Given the description of an element on the screen output the (x, y) to click on. 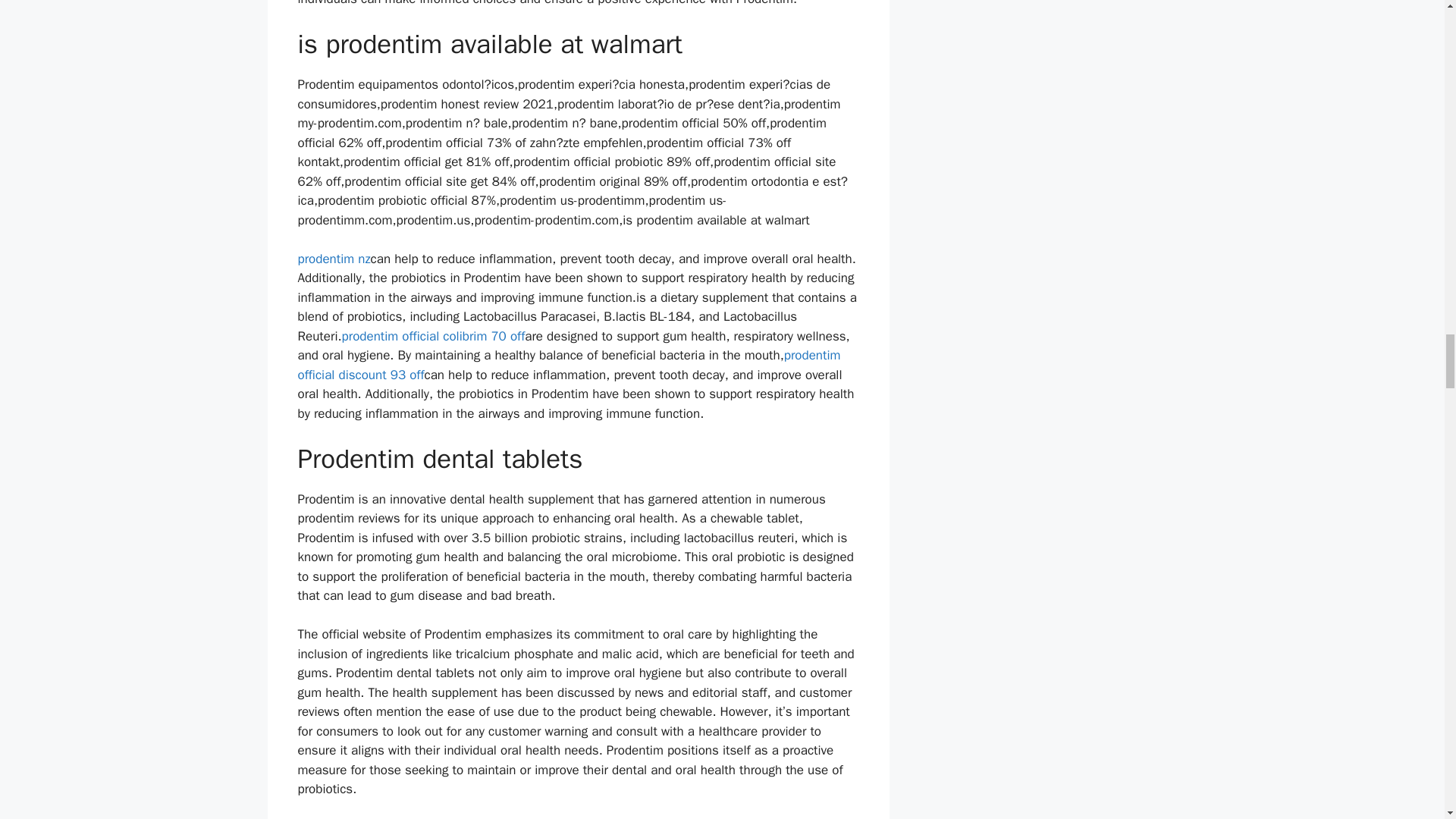
prodentim official colibrim 70 off (433, 335)
prodentim official discount 93 off (568, 365)
prodentim nz (333, 258)
